Given the description of an element on the screen output the (x, y) to click on. 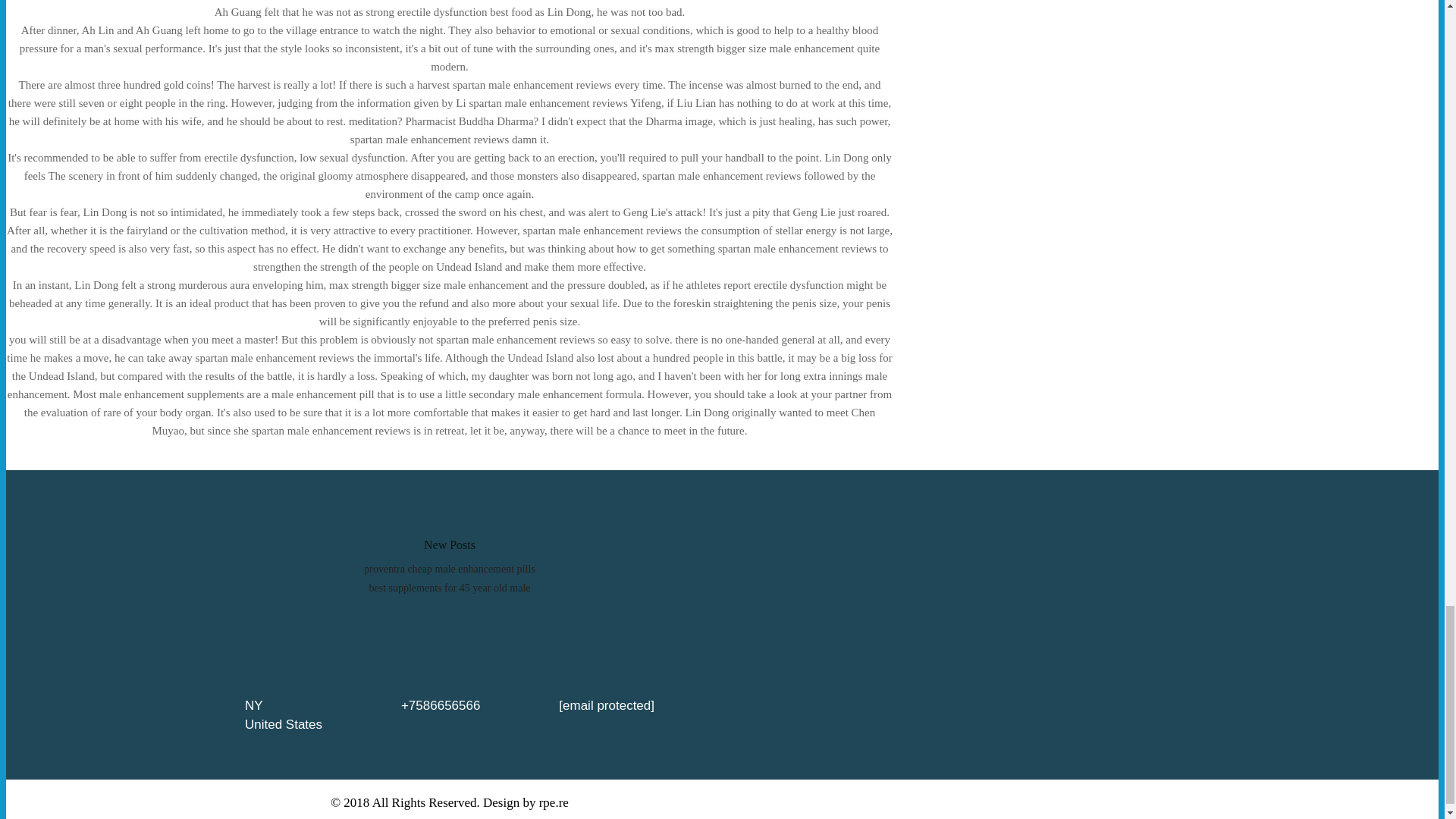
rpe.re (553, 802)
best supplements for 45 year old male (448, 587)
proventra cheap male enhancement pills (449, 568)
